Given the description of an element on the screen output the (x, y) to click on. 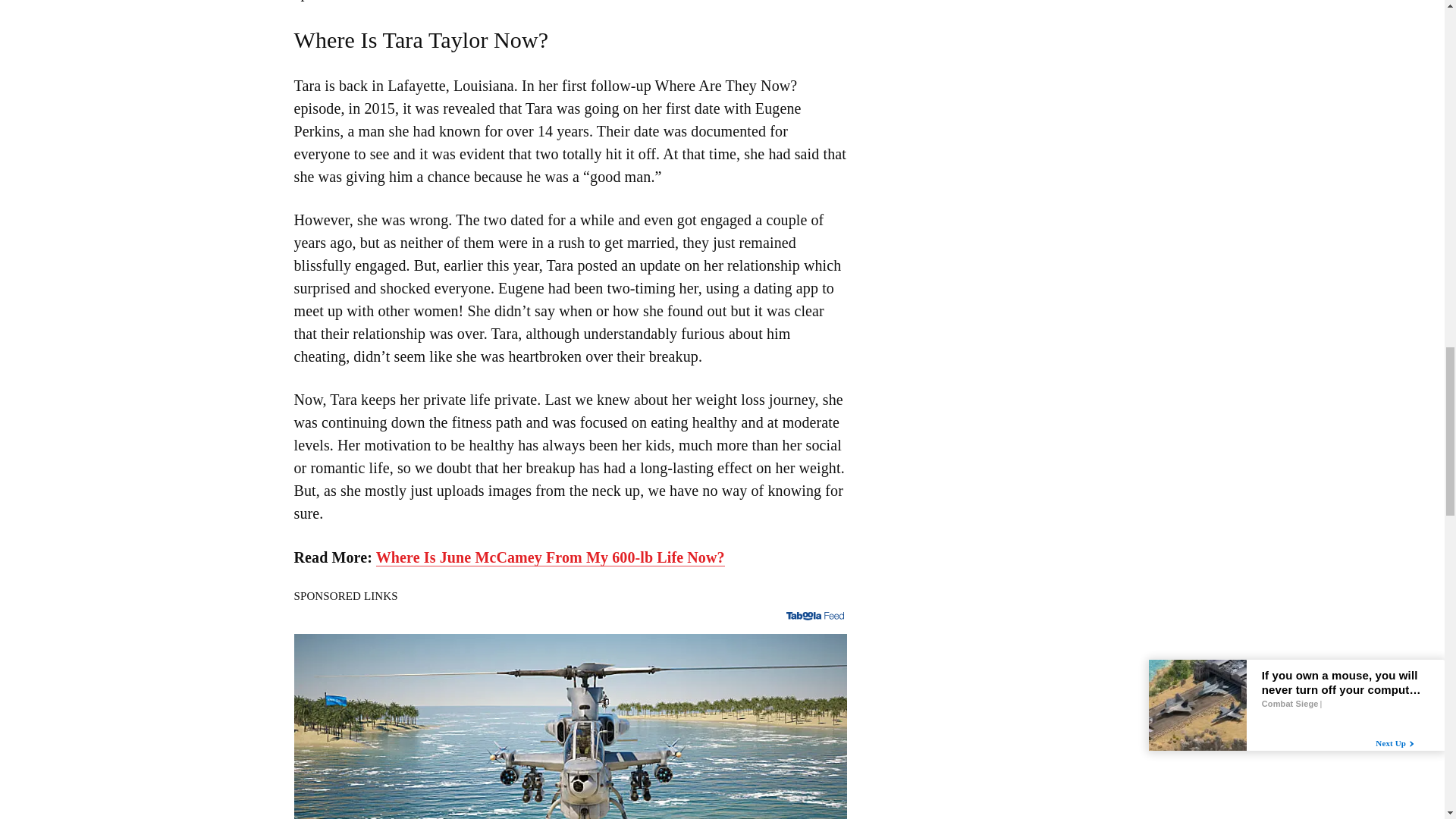
If you own a mouse, play it for 1 minute. (570, 726)
Where Is June McCamey From My 600-lb Life Now? (550, 557)
